Given the description of an element on the screen output the (x, y) to click on. 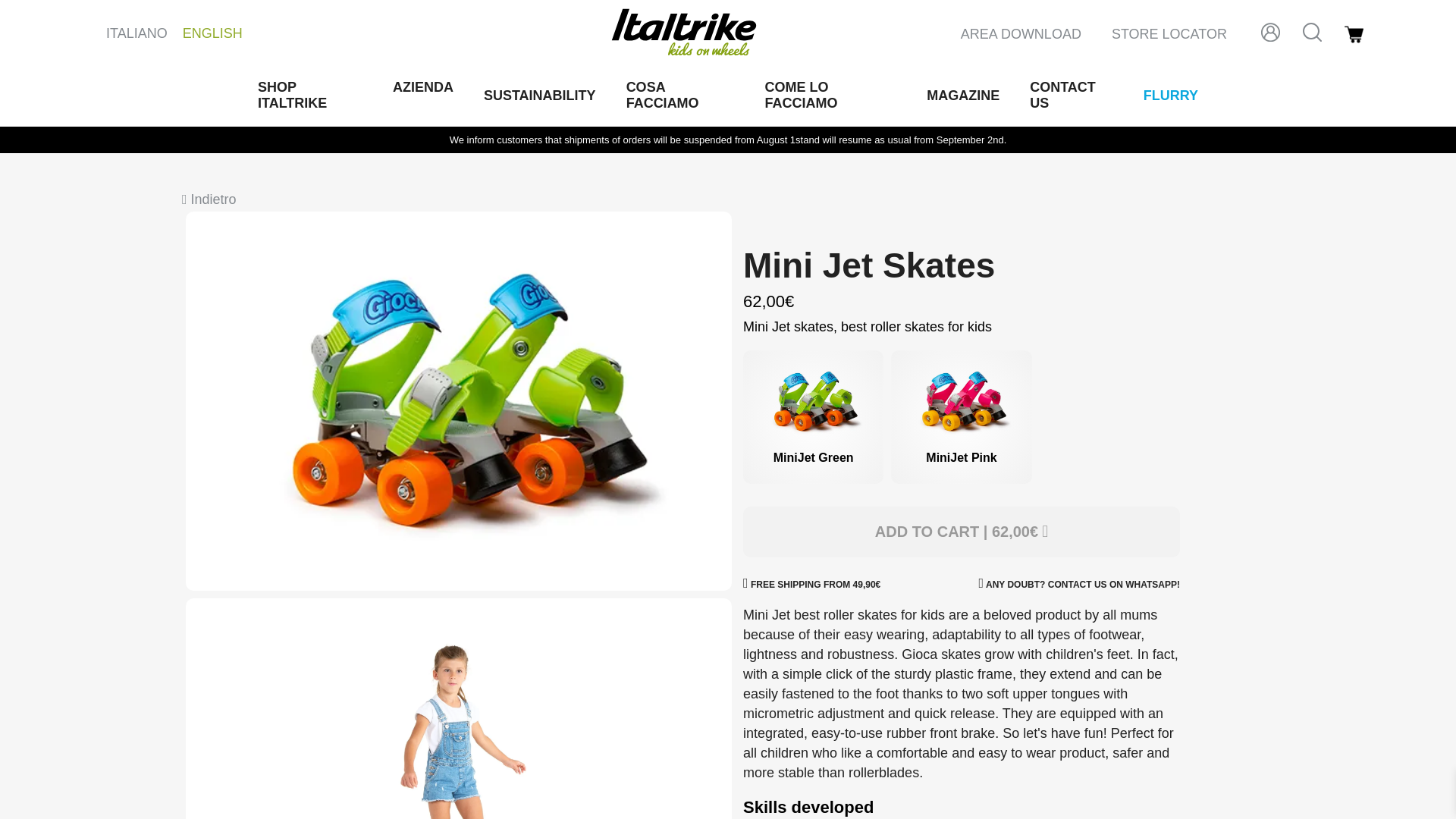
AZIENDA (422, 87)
CONTACT US (1070, 95)
MAGAZINE (962, 95)
SHOP ITALTRIKE (309, 95)
COSA FACCIAMO (680, 95)
COME LO FACCIAMO (830, 95)
SUSTAINABILITY (539, 95)
FLURRY (1170, 95)
